Given the description of an element on the screen output the (x, y) to click on. 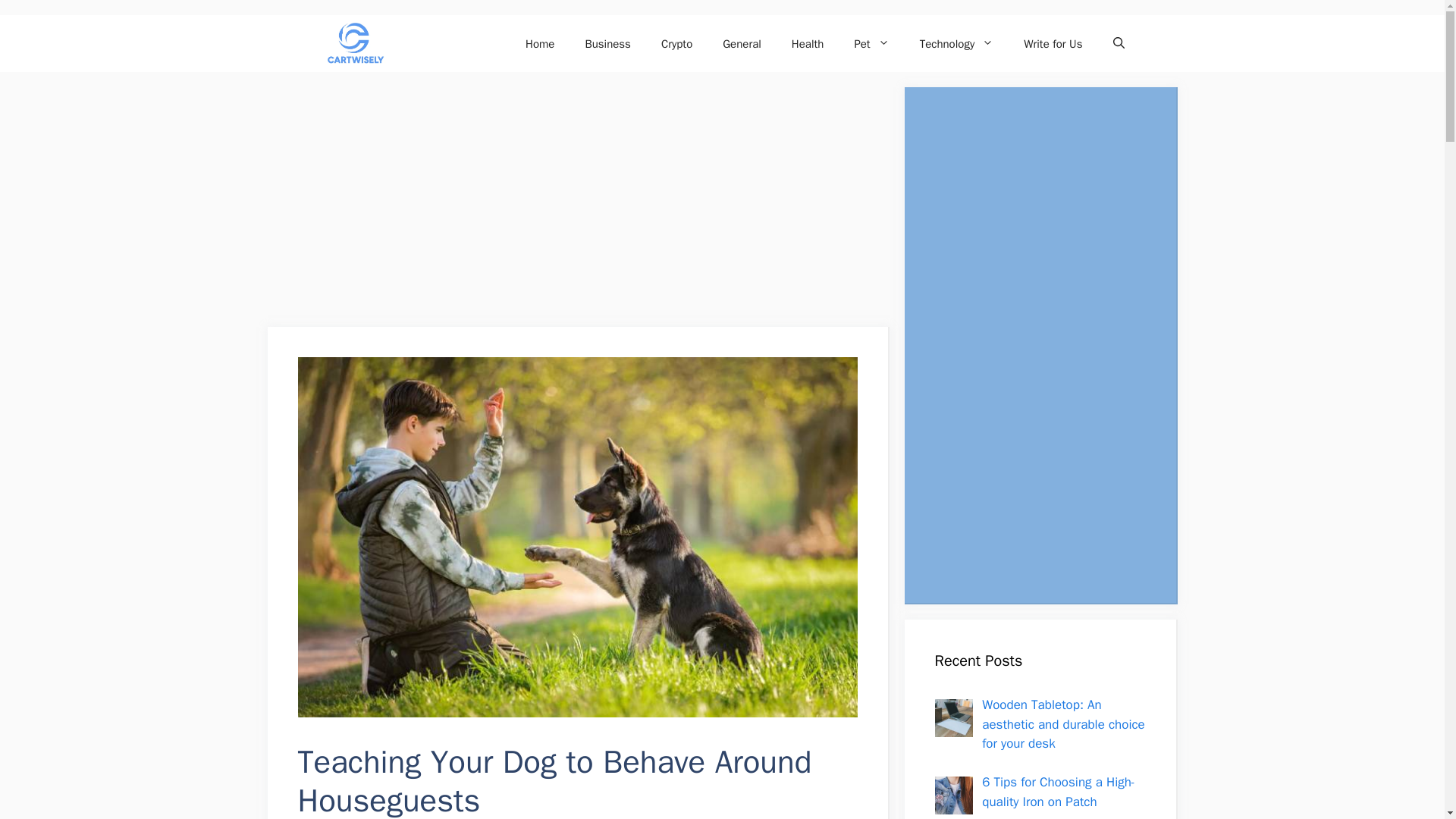
Crypto (676, 43)
Write for Us (1053, 43)
Home (540, 43)
Business (607, 43)
CartWisely (352, 43)
Health (808, 43)
Pet (871, 43)
Technology (956, 43)
General (741, 43)
